Given the description of an element on the screen output the (x, y) to click on. 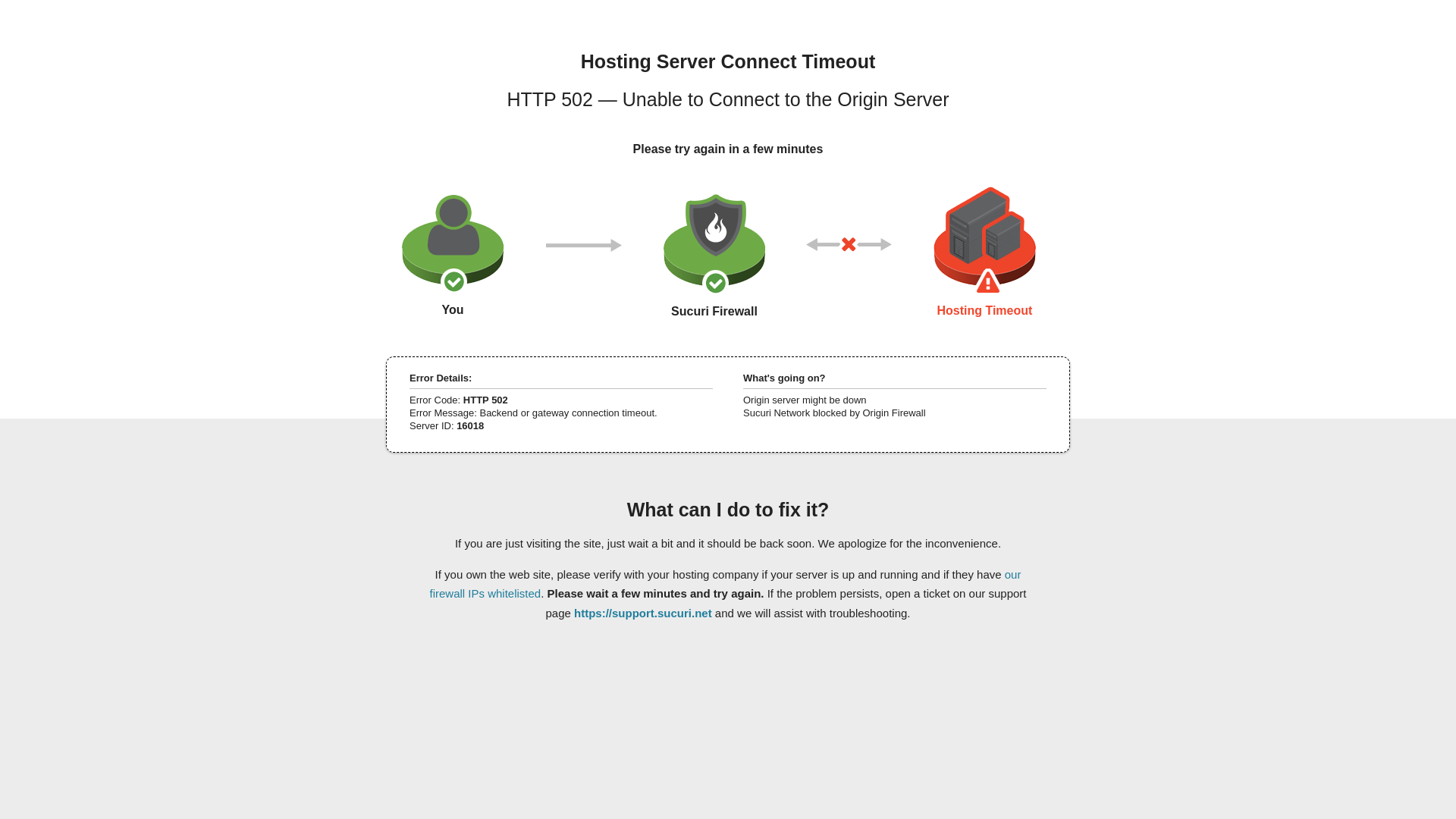
our firewall IPs whitelisted (724, 583)
